Given the description of an element on the screen output the (x, y) to click on. 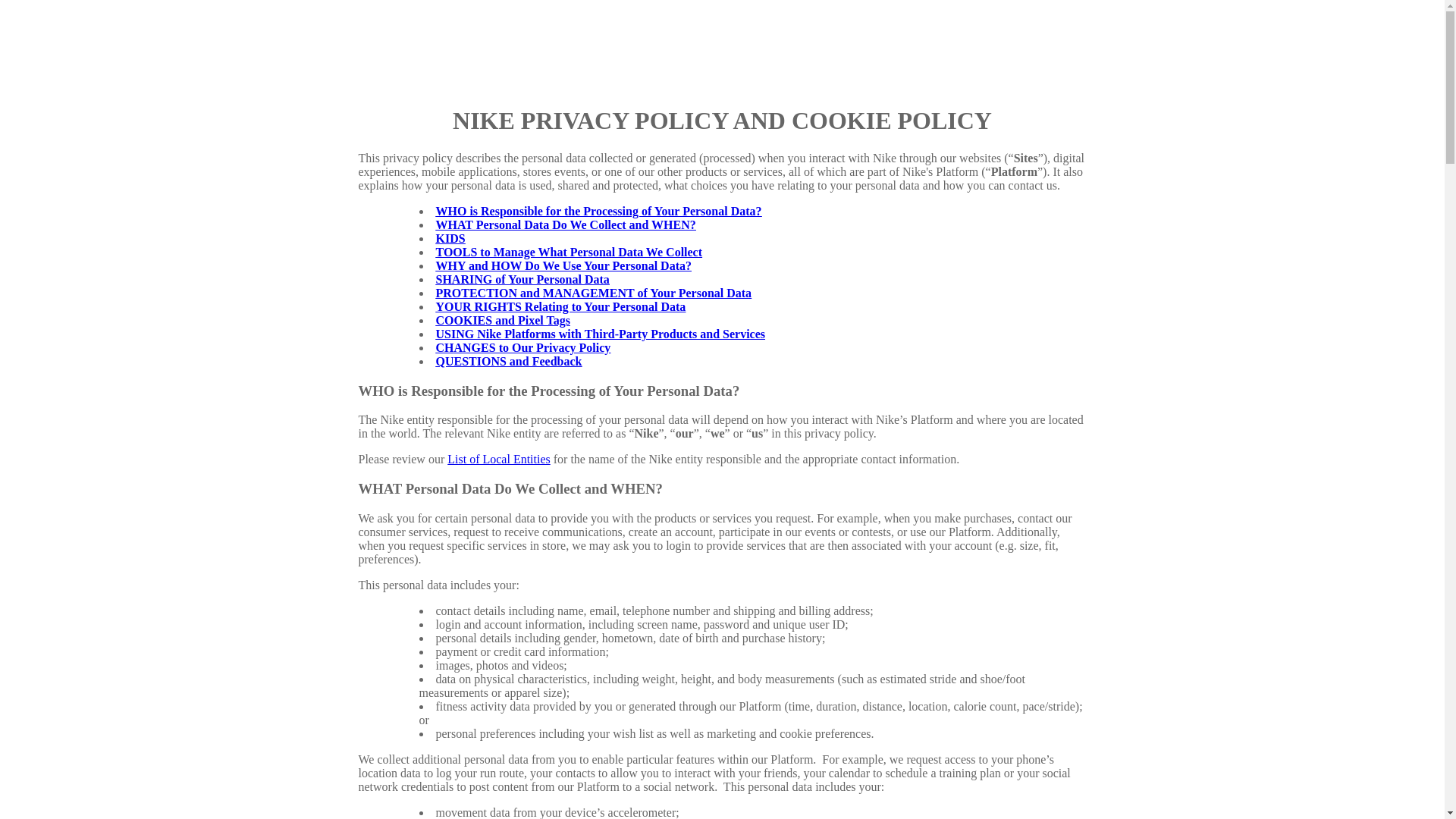
KIDS (449, 237)
QUESTIONS and Feedback (507, 360)
YOUR RIGHTS Relating to Your Personal Data (560, 306)
WHAT Personal Data Do We Collect and WHEN? (565, 224)
CHANGES to Our Privacy Policy (522, 347)
WHO is Responsible for the Processing of Your Personal Data? (598, 210)
SHARING of Your Personal Data (521, 278)
WHY and HOW Do We Use Your Personal Data? (563, 265)
PROTECTION and MANAGEMENT of Your Personal Data (593, 292)
TOOLS to Manage What Personal Data We Collect (568, 251)
